Given the description of an element on the screen output the (x, y) to click on. 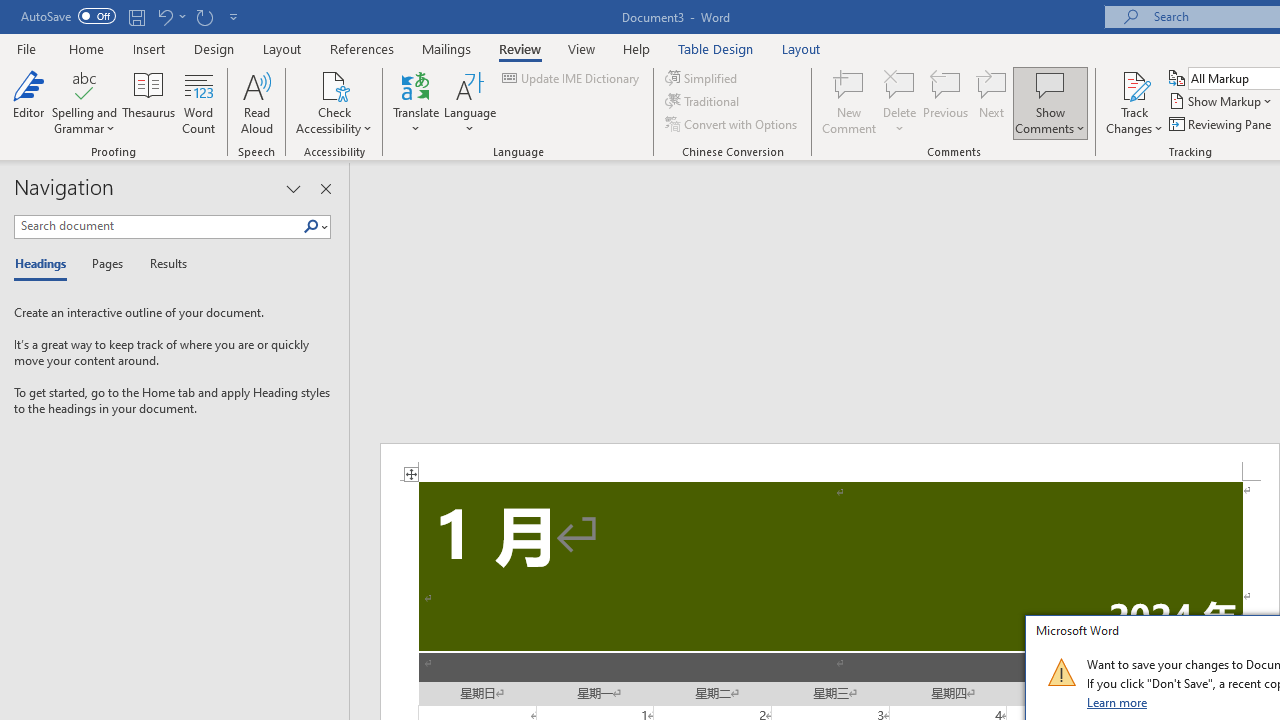
Learn more (1118, 702)
Show Comments (1050, 102)
Header -Section 1- (830, 461)
Delete (900, 102)
Translate (415, 102)
Undo Increase Indent (170, 15)
Track Changes (1134, 84)
Read Aloud (256, 102)
Previous (946, 102)
